Given the description of an element on the screen output the (x, y) to click on. 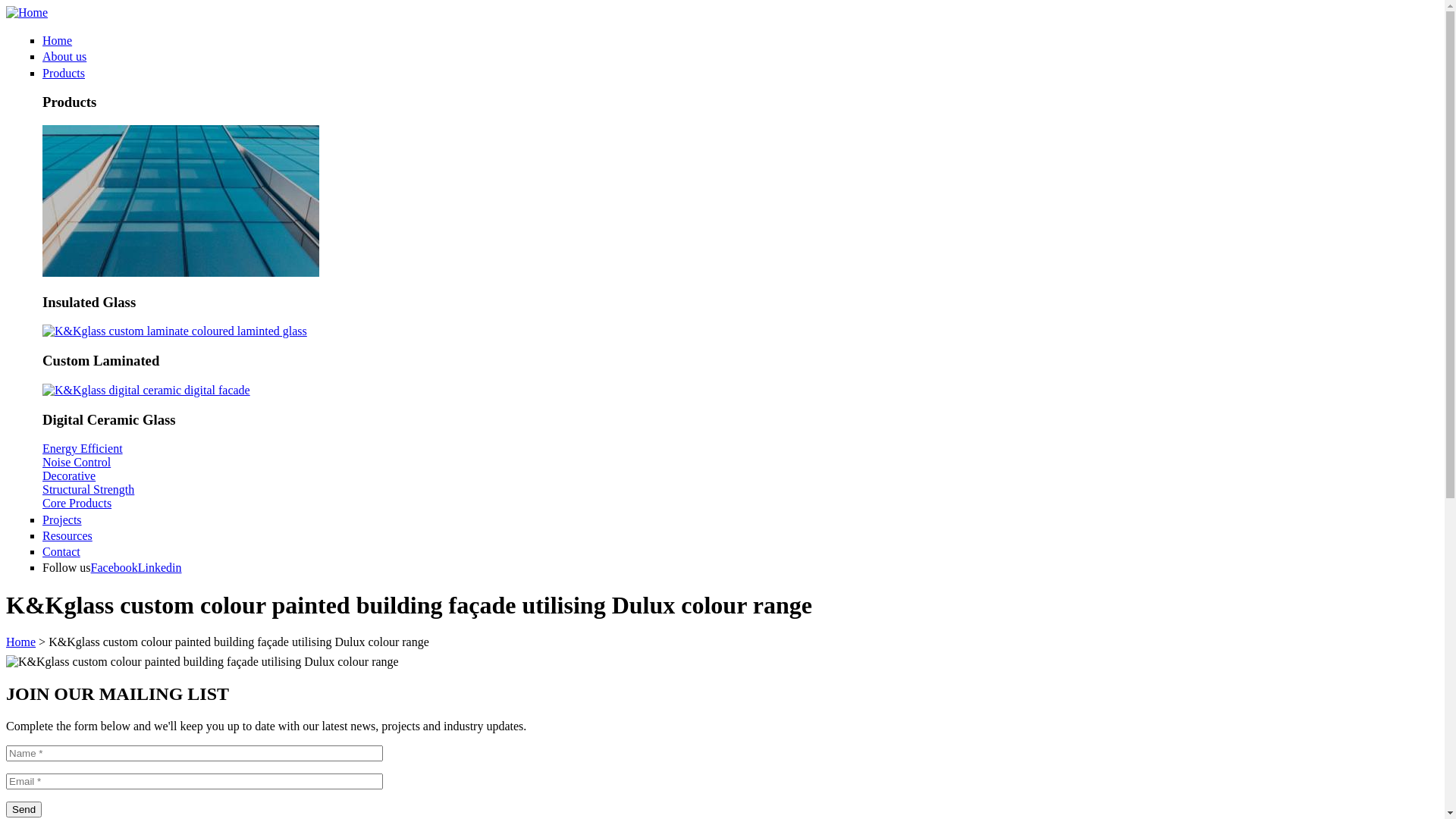
Home Element type: text (20, 641)
Core Products Element type: text (76, 502)
Linkedin Element type: text (160, 567)
About us Element type: text (64, 56)
Resources Element type: text (67, 535)
Contact Element type: text (61, 551)
Structural Strength Element type: text (88, 489)
Energy Efficient Element type: text (82, 448)
Home Element type: text (57, 40)
Products Element type: text (63, 72)
Home Element type: hover (26, 12)
Facebook Element type: text (114, 567)
Projects Element type: text (61, 518)
Send Element type: text (23, 809)
Noise Control Element type: text (76, 461)
Decorative Element type: text (68, 475)
